Given the description of an element on the screen output the (x, y) to click on. 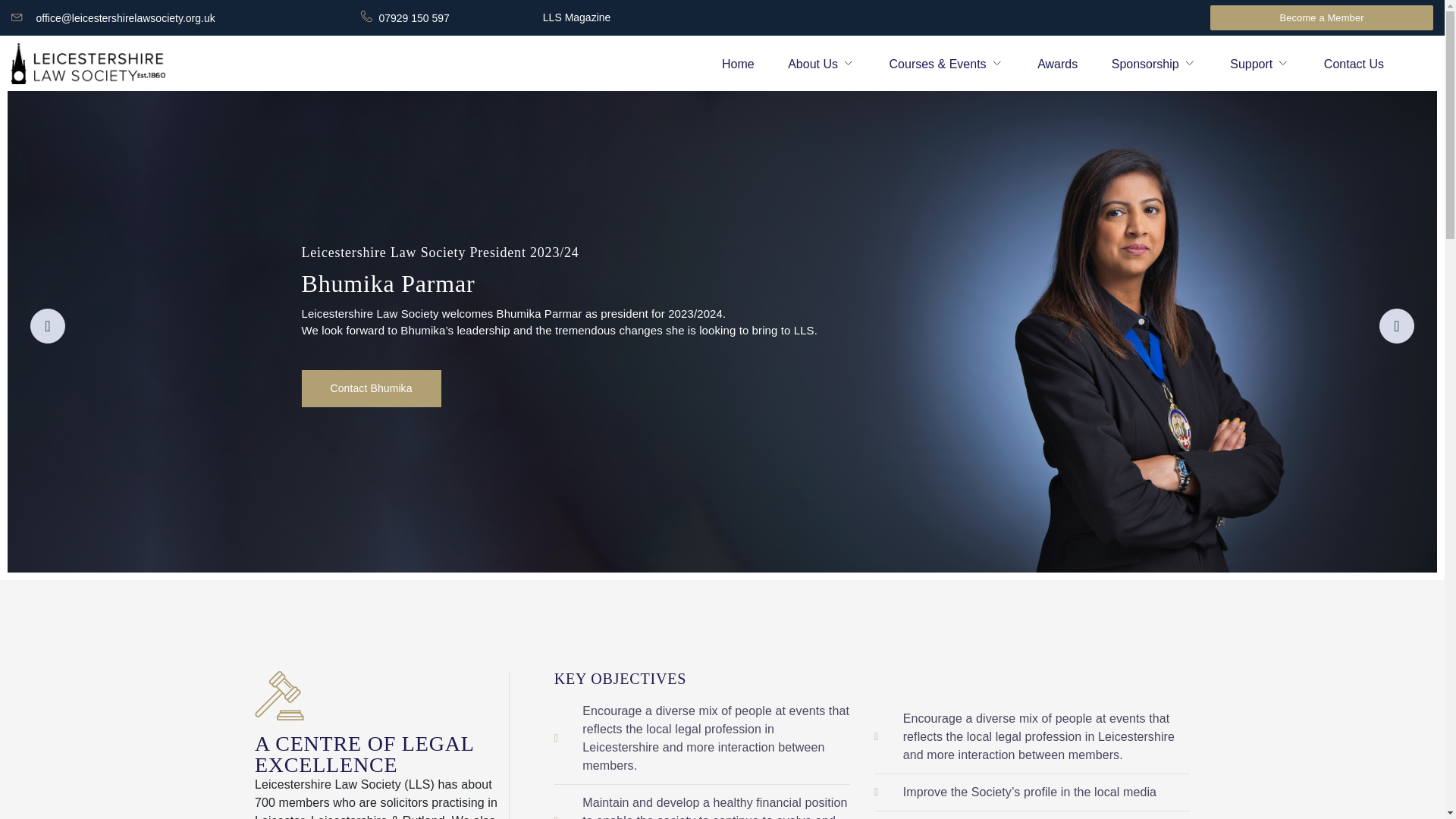
LLS Magazine (577, 17)
Become a Member (1320, 17)
About Us (821, 64)
07929 150 597 (413, 18)
